Given the description of an element on the screen output the (x, y) to click on. 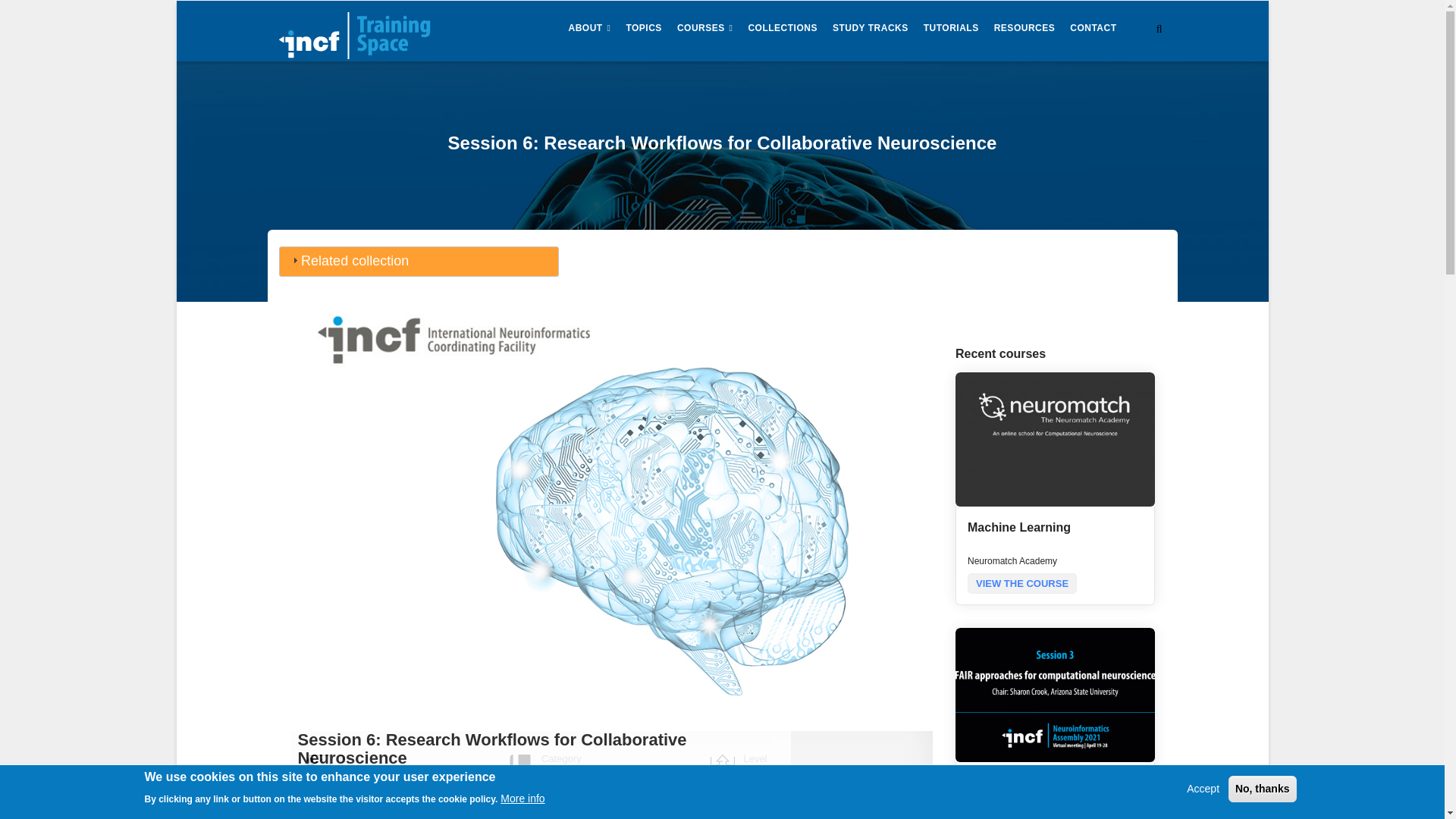
ABOUT (589, 28)
COURSES (705, 28)
TOPICS (642, 28)
COLLECTIONS (782, 28)
Home (354, 30)
INCF (352, 773)
Methods (563, 773)
RESOURCES (1024, 28)
Science Management (595, 786)
STUDY TRACKS (870, 28)
